Given the description of an element on the screen output the (x, y) to click on. 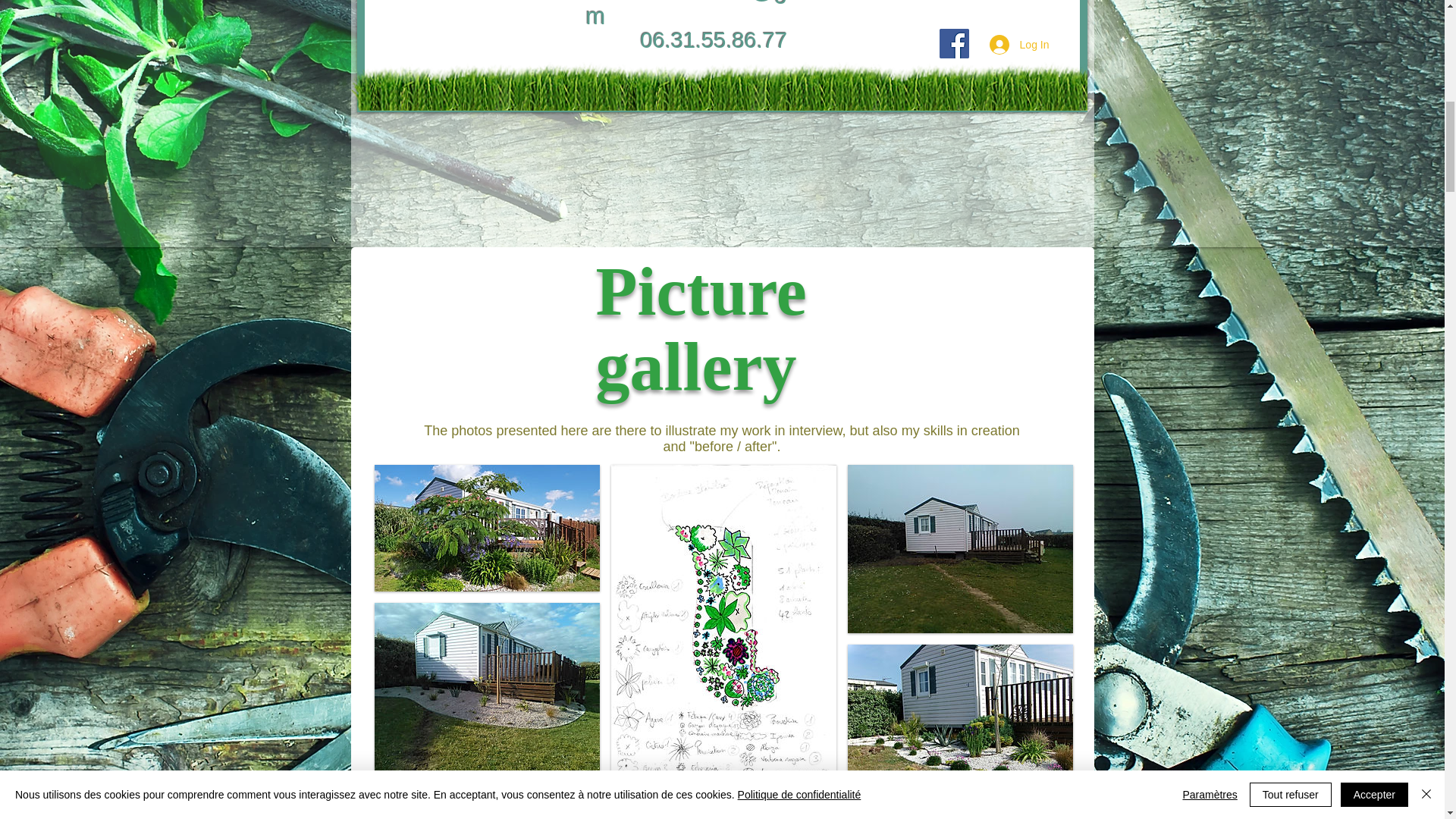
Log In (1018, 44)
